Given the description of an element on the screen output the (x, y) to click on. 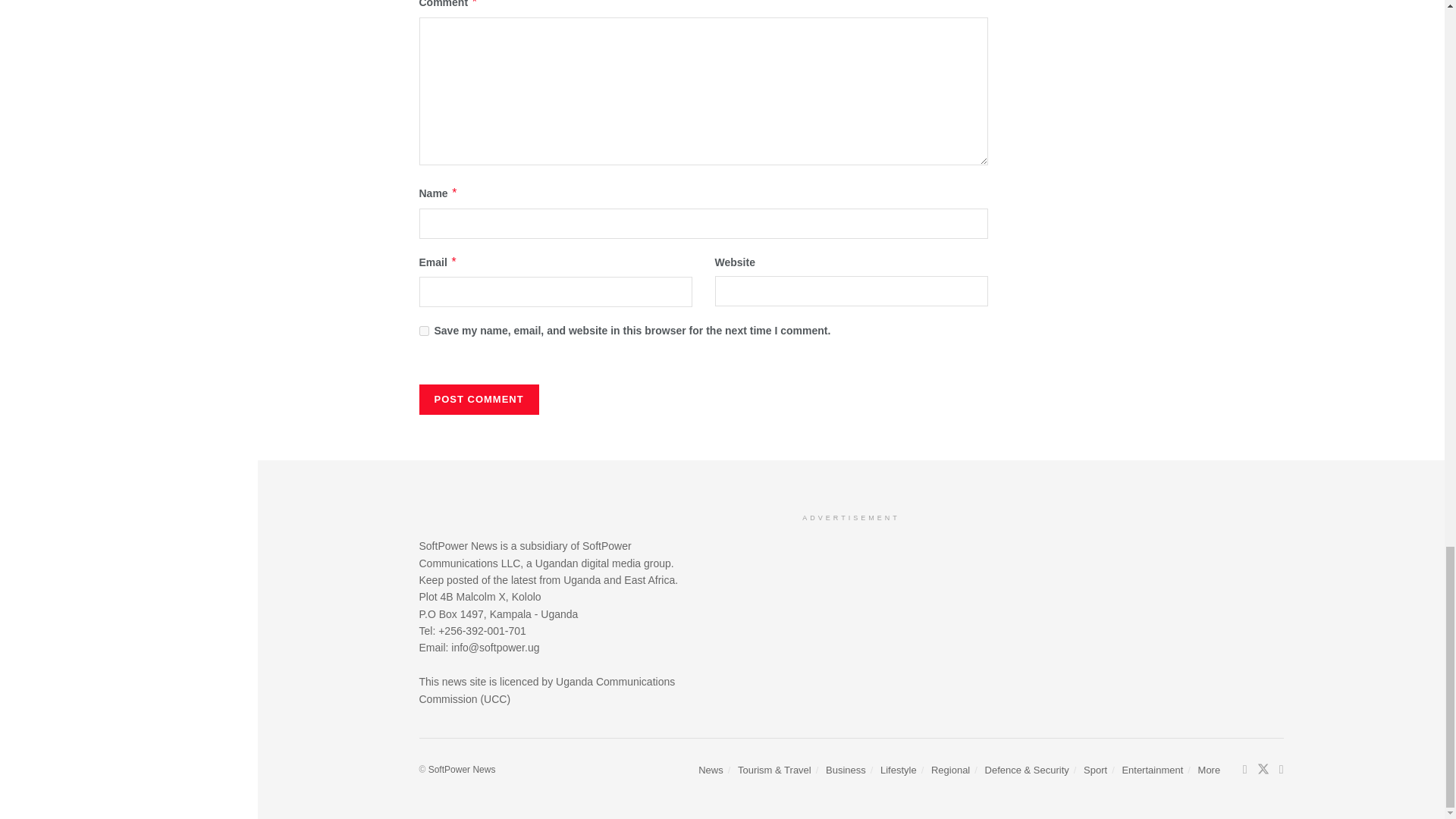
SoftPower News (462, 769)
yes (423, 330)
Post Comment (478, 399)
